Given the description of an element on the screen output the (x, y) to click on. 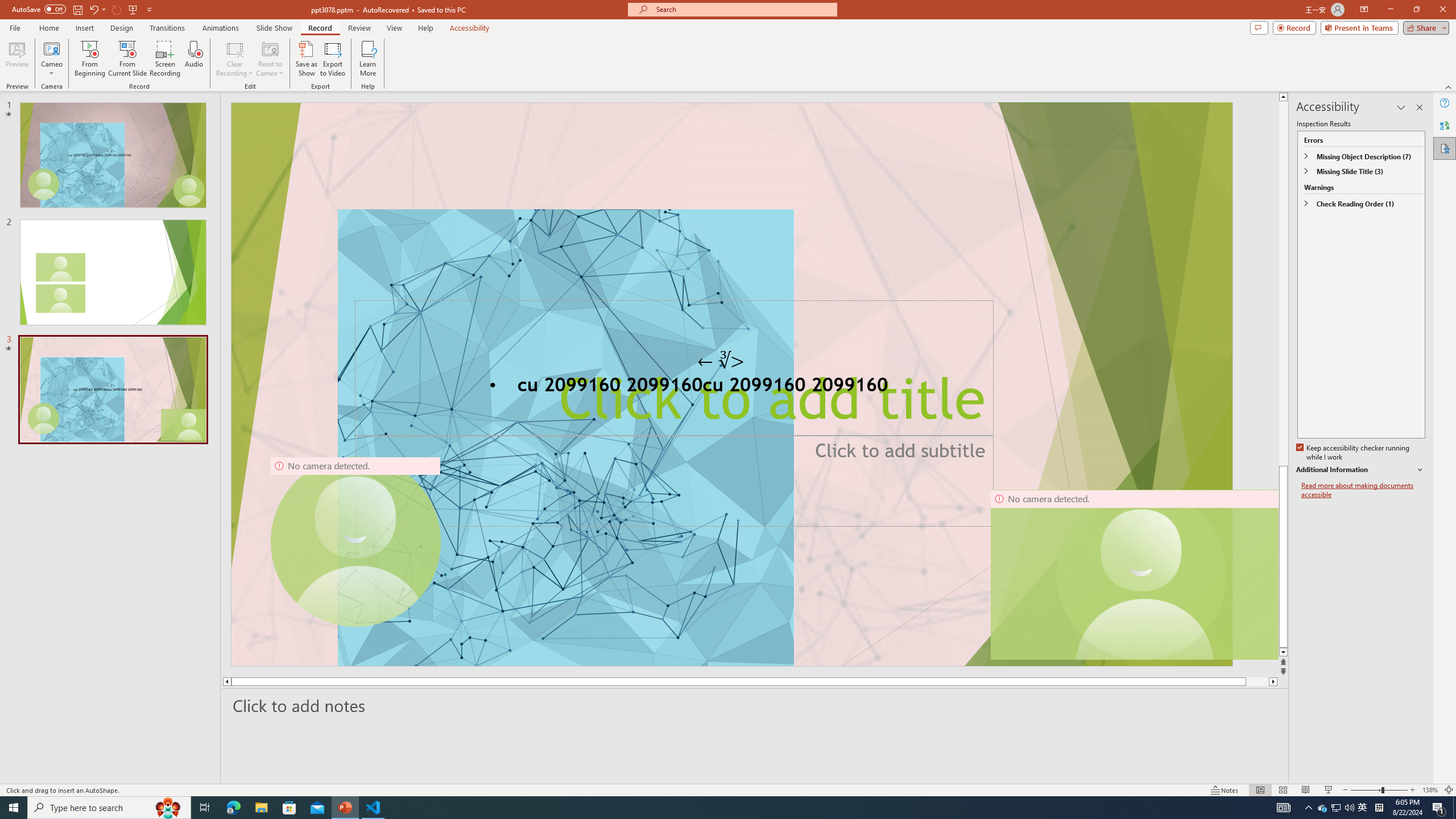
Clear Recording (234, 58)
Export to Video (332, 58)
Screen Recording (165, 58)
Camera 14, No camera detected. (1134, 574)
